Given the description of an element on the screen output the (x, y) to click on. 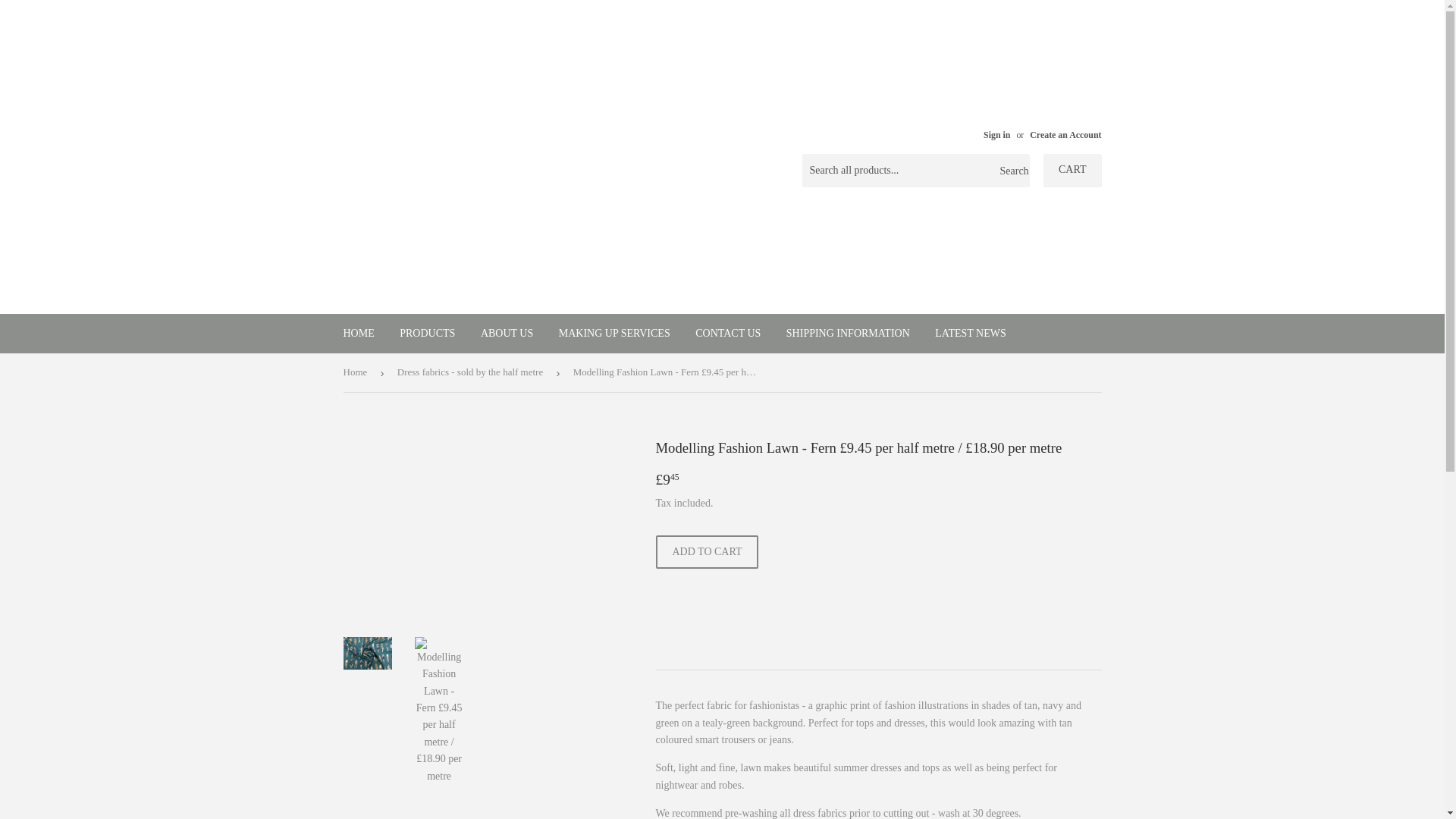
MAKING UP SERVICES (614, 332)
CART (1072, 170)
PRODUCTS (426, 332)
Create an Account (1064, 134)
Search (1011, 171)
SHIPPING INFORMATION (847, 332)
CONTACT US (727, 332)
HOME (358, 332)
ABOUT US (506, 332)
Sign in (997, 134)
Dress fabrics - sold by the half metre (472, 372)
LATEST NEWS (969, 332)
ADD TO CART (706, 551)
